Given the description of an element on the screen output the (x, y) to click on. 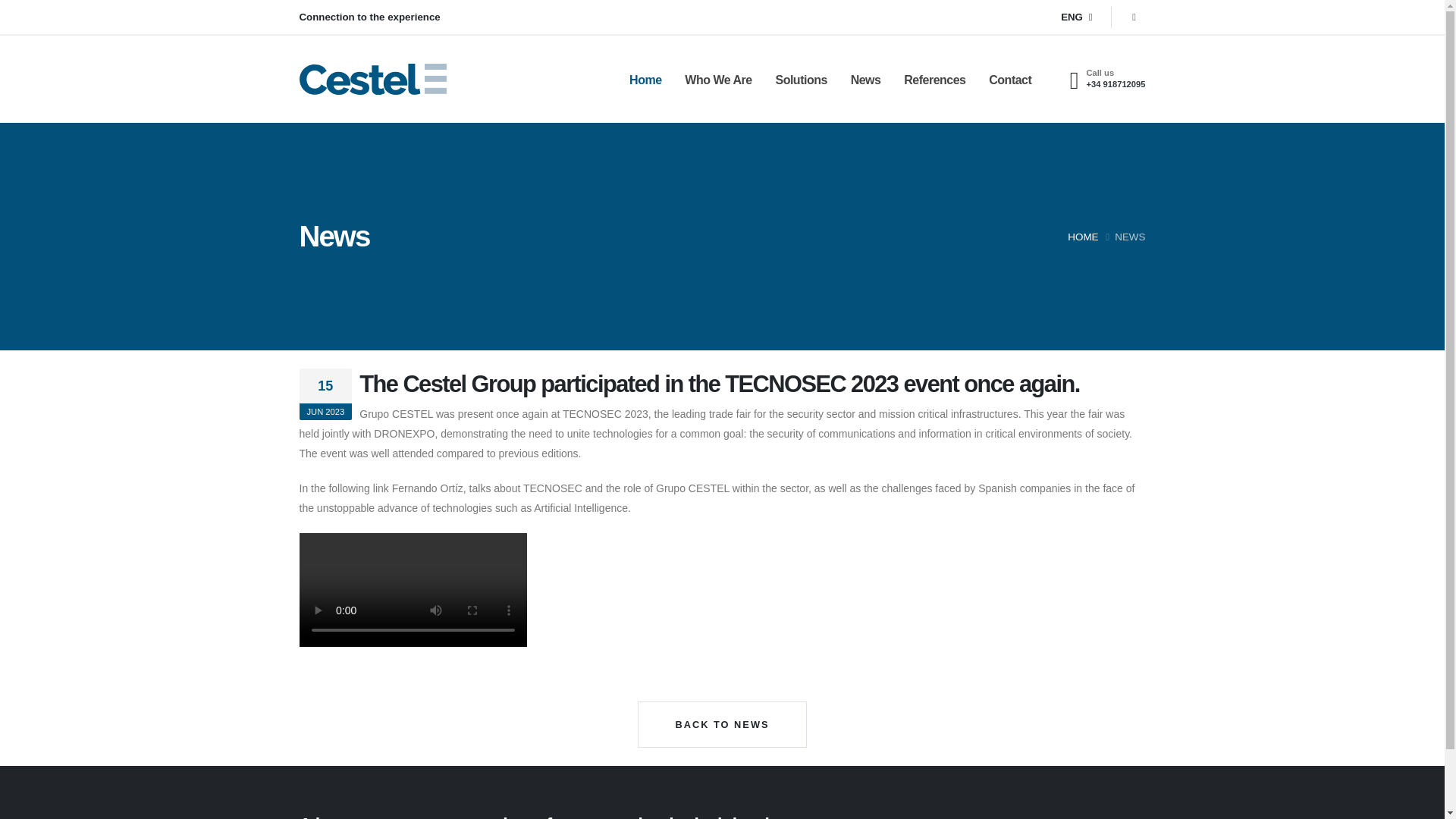
Legal notice (758, 591)
Contact (638, 647)
Who We Are (718, 79)
Privacy policy (762, 619)
References (934, 79)
ENG (1075, 17)
GRUPO CESTEL (373, 627)
Home (529, 591)
References (646, 619)
Who we are (543, 619)
Solutions (537, 647)
Porto Finance (373, 564)
Linkedin (1131, 769)
HOME (1082, 236)
ENG (1073, 770)
